Given the description of an element on the screen output the (x, y) to click on. 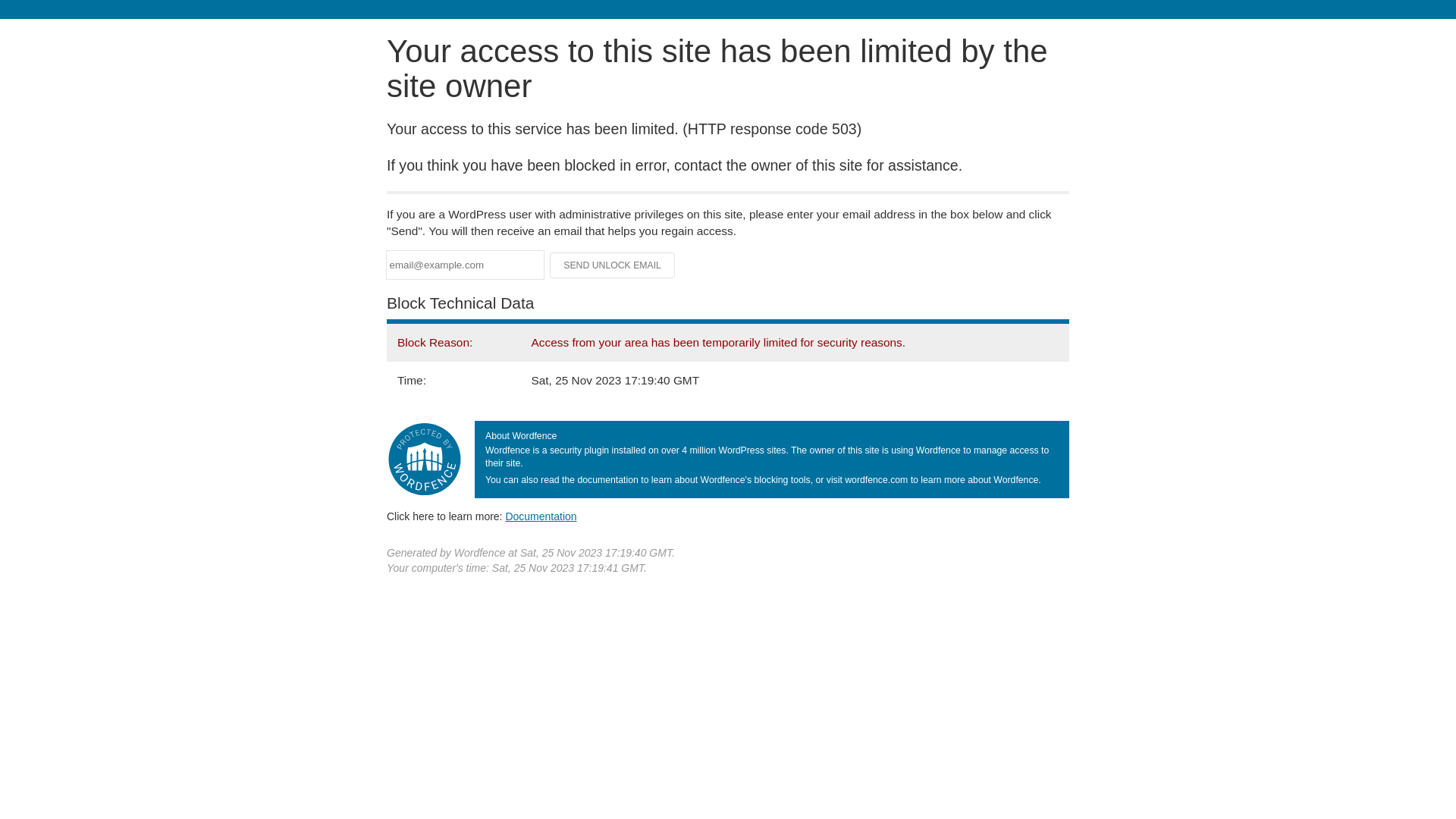
Send Unlock Email Element type: text (612, 265)
Documentation Element type: text (540, 516)
